Given the description of an element on the screen output the (x, y) to click on. 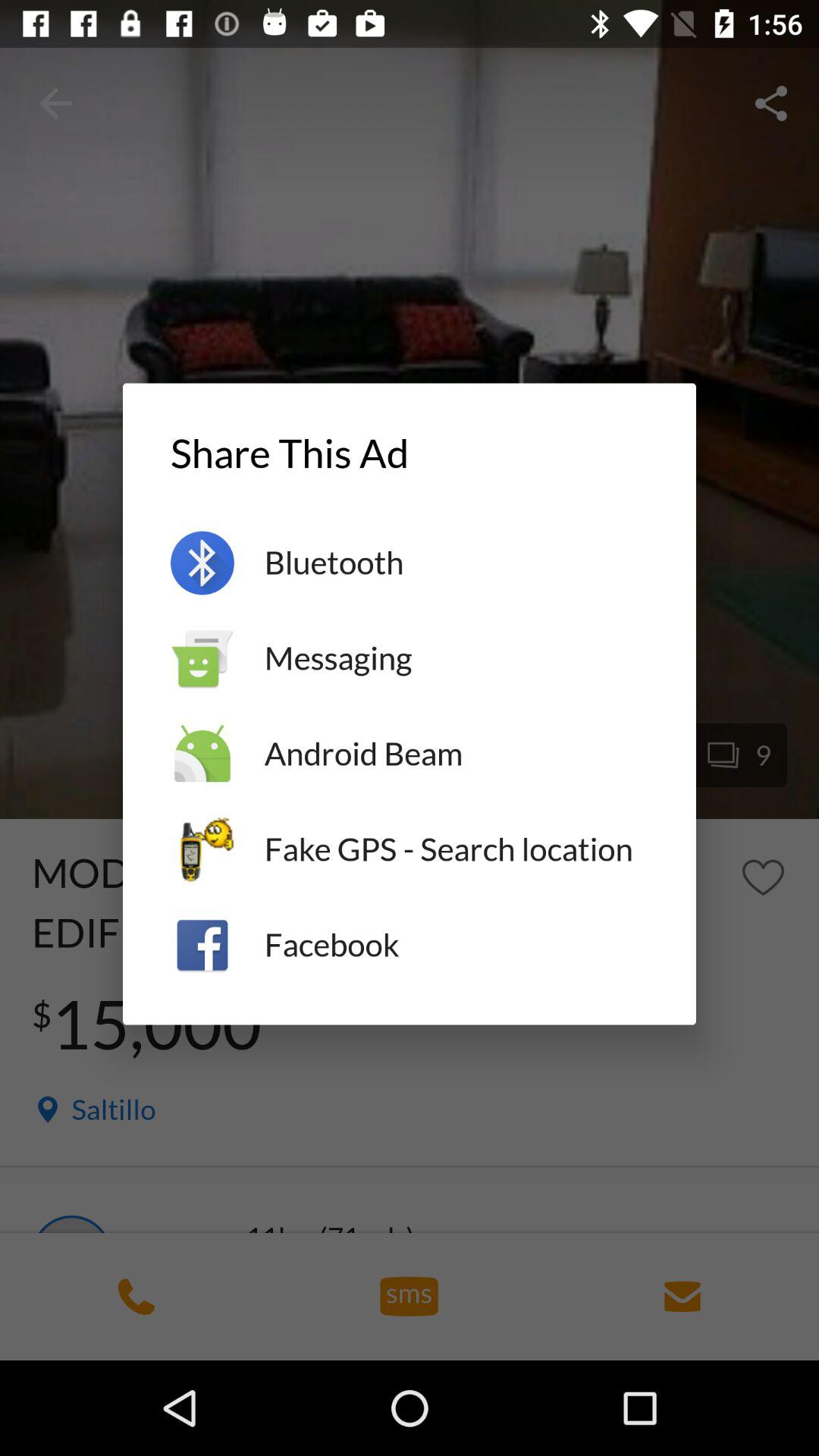
launch the icon above android beam icon (456, 658)
